Given the description of an element on the screen output the (x, y) to click on. 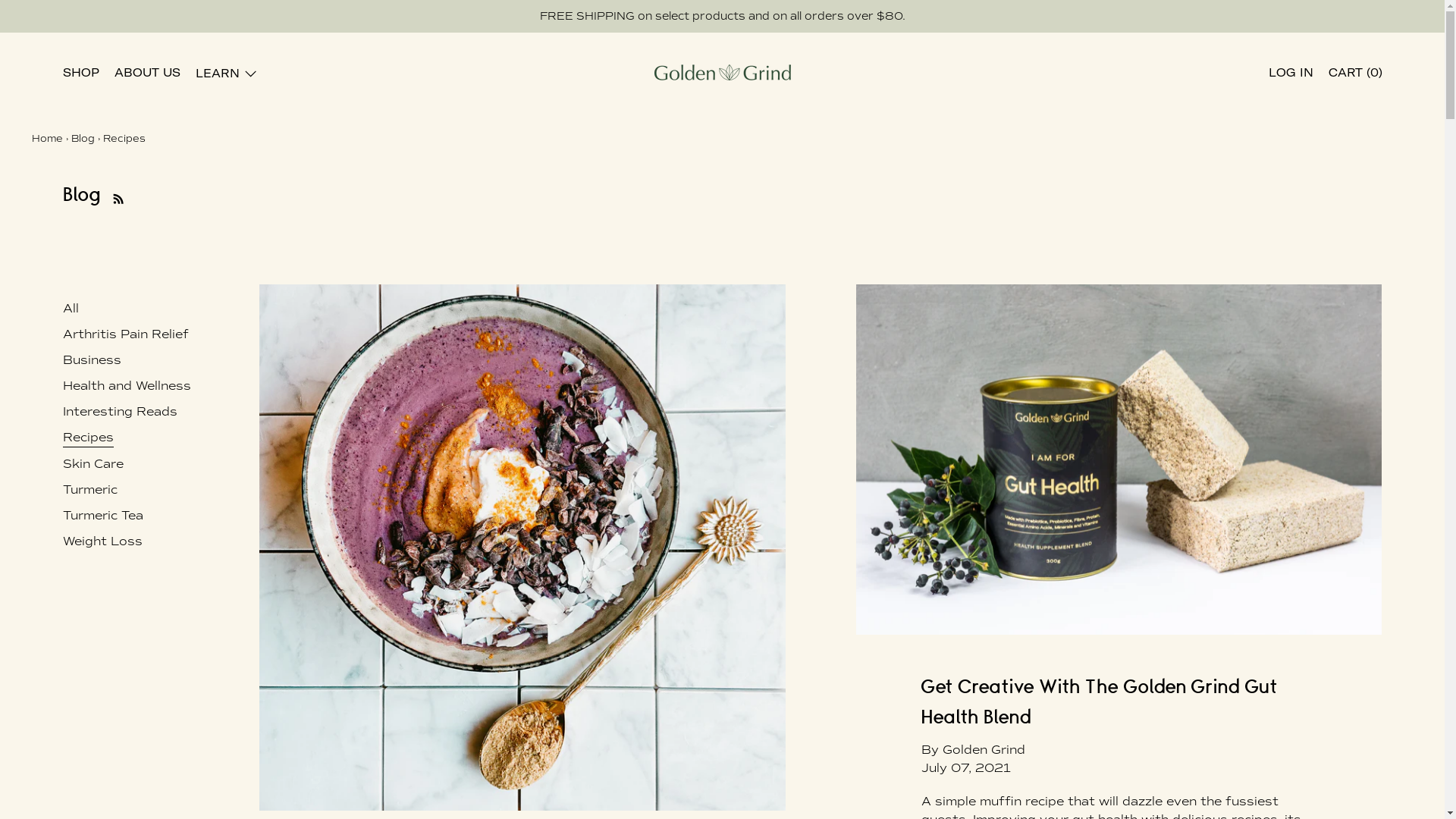
CART (0) Element type: text (1355, 73)
Business Element type: text (91, 360)
Home Element type: text (46, 138)
Health and Wellness Element type: text (126, 385)
Skin Care Element type: text (92, 464)
Get Creative With The Golden Grind Gut Health Blend Element type: text (1118, 702)
ABOUT US Element type: text (146, 73)
Subscribe Element type: hover (113, 194)
Interesting Reads Element type: text (119, 411)
Turmeric Tea Element type: text (102, 515)
Recipes Element type: text (87, 437)
Blog Element type: text (82, 138)
LOG IN Element type: text (1290, 73)
LEARN Element type: text (226, 74)
Arthritis Pain Relief Element type: text (125, 334)
SHOP Element type: text (80, 73)
All Element type: text (70, 308)
Turmeric Element type: text (89, 489)
Weight Loss Element type: text (101, 541)
